Given the description of an element on the screen output the (x, y) to click on. 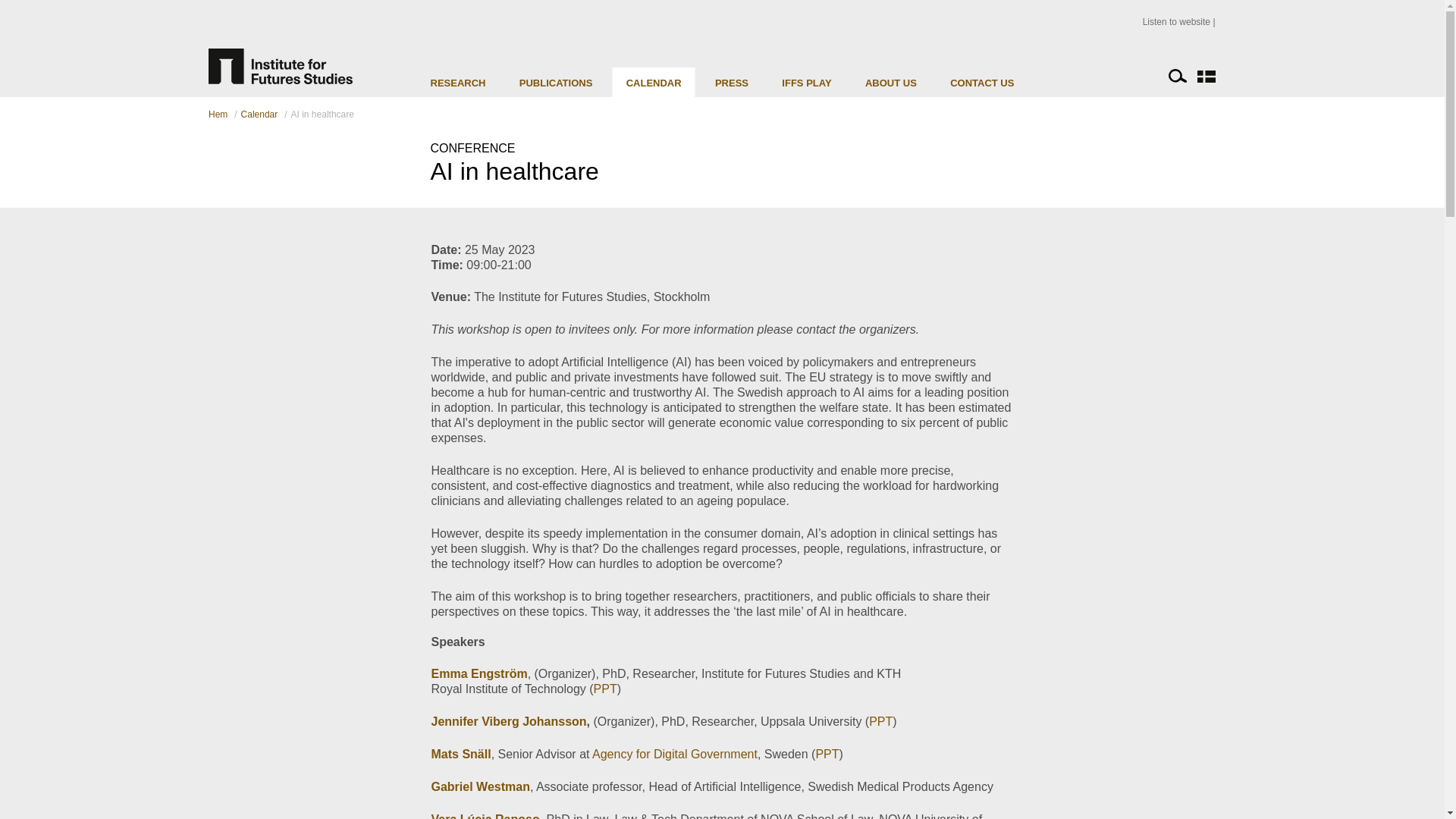
RESEARCH (458, 82)
IFFS PLAY (806, 82)
CONTACT US (981, 82)
PRESS (731, 82)
CALENDAR (653, 82)
ABOUT US (890, 82)
PUBLICATIONS (555, 82)
Listen to website (1178, 21)
